Given the description of an element on the screen output the (x, y) to click on. 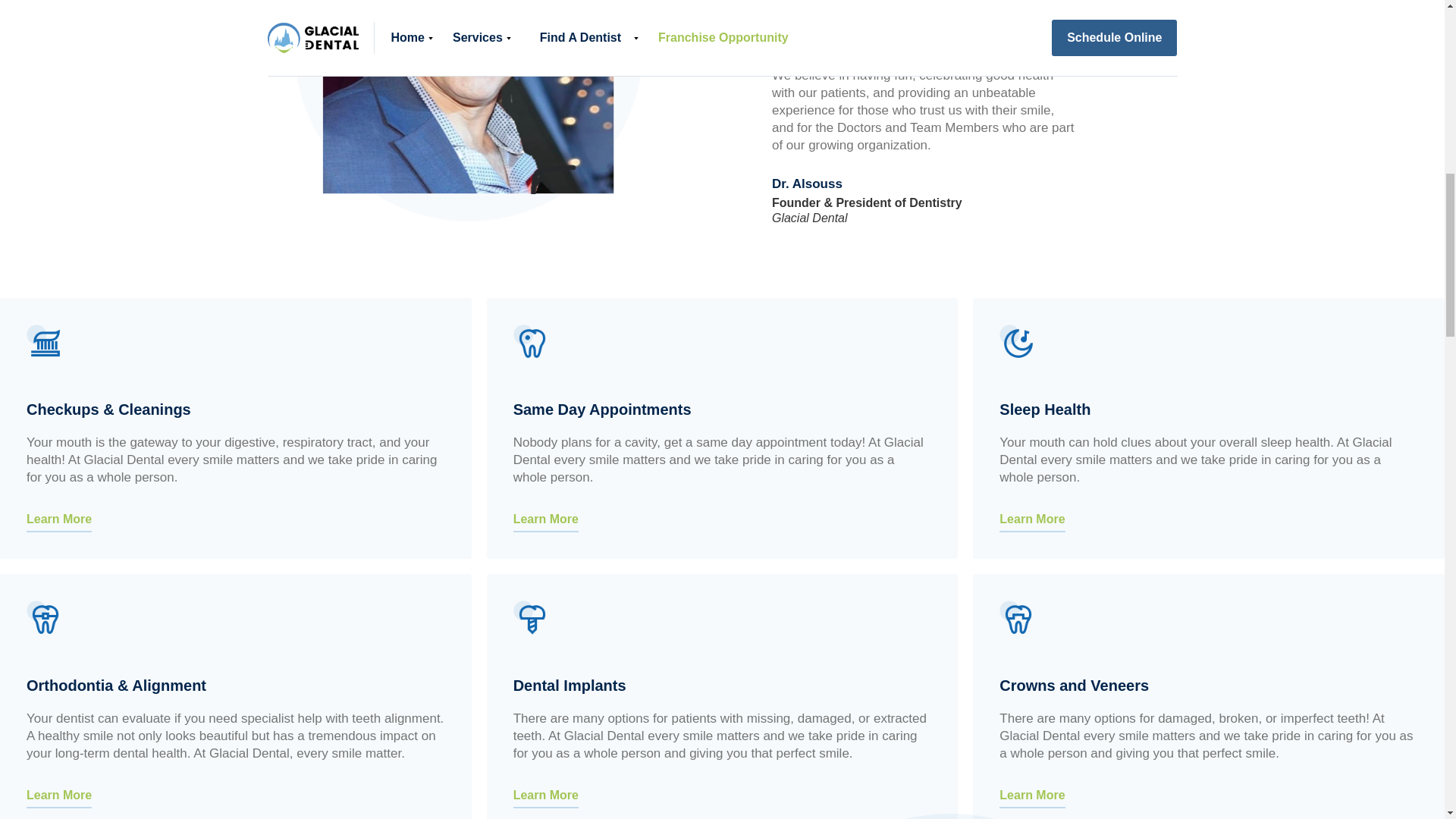
Learn More (58, 516)
Learn More (58, 792)
Learn More (1031, 792)
Learn More (1031, 516)
Learn More (545, 516)
Learn More (545, 792)
